Given the description of an element on the screen output the (x, y) to click on. 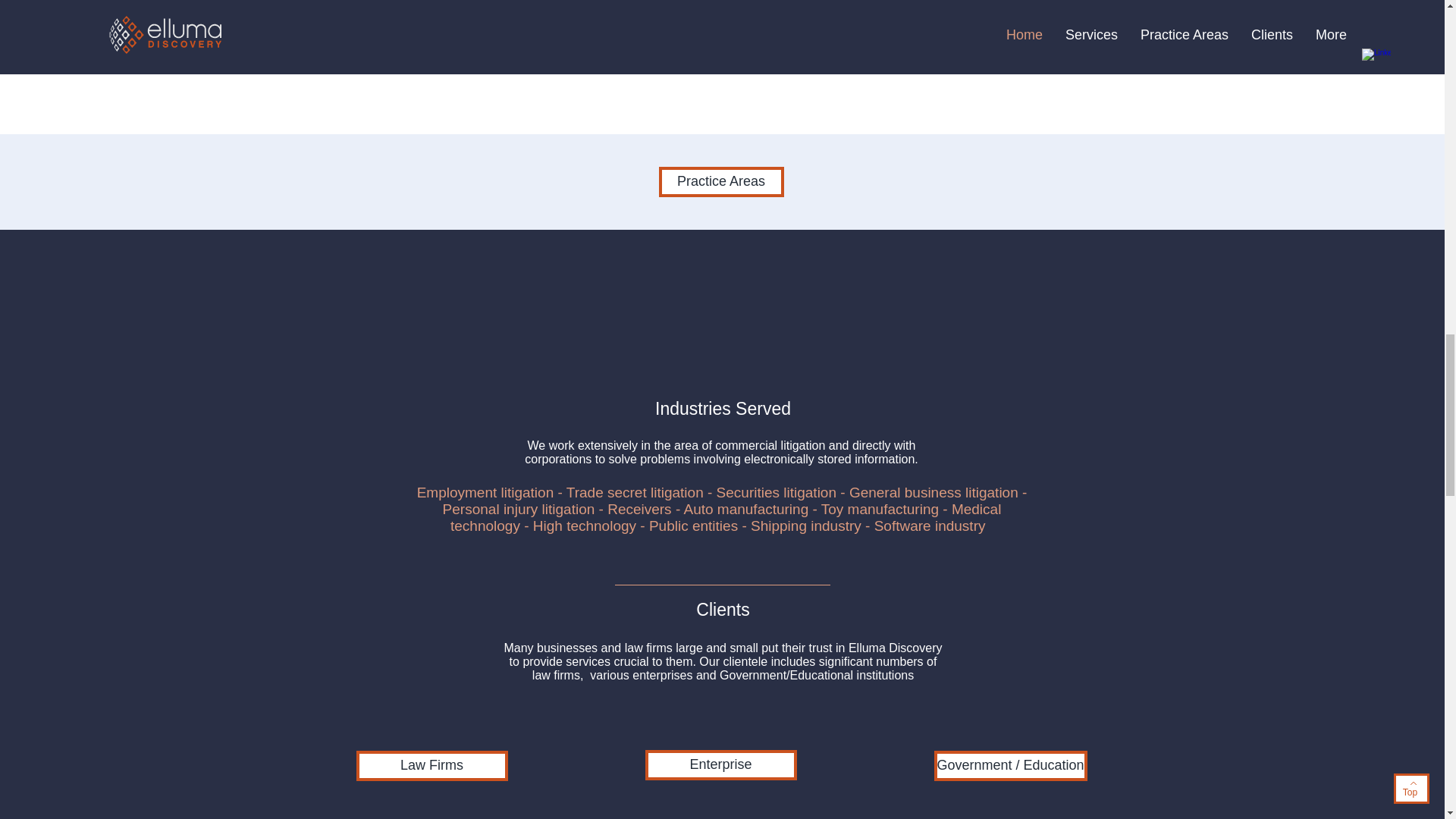
Law Firms (432, 766)
Practice Areas (720, 182)
Enterprise (720, 765)
